Given the description of an element on the screen output the (x, y) to click on. 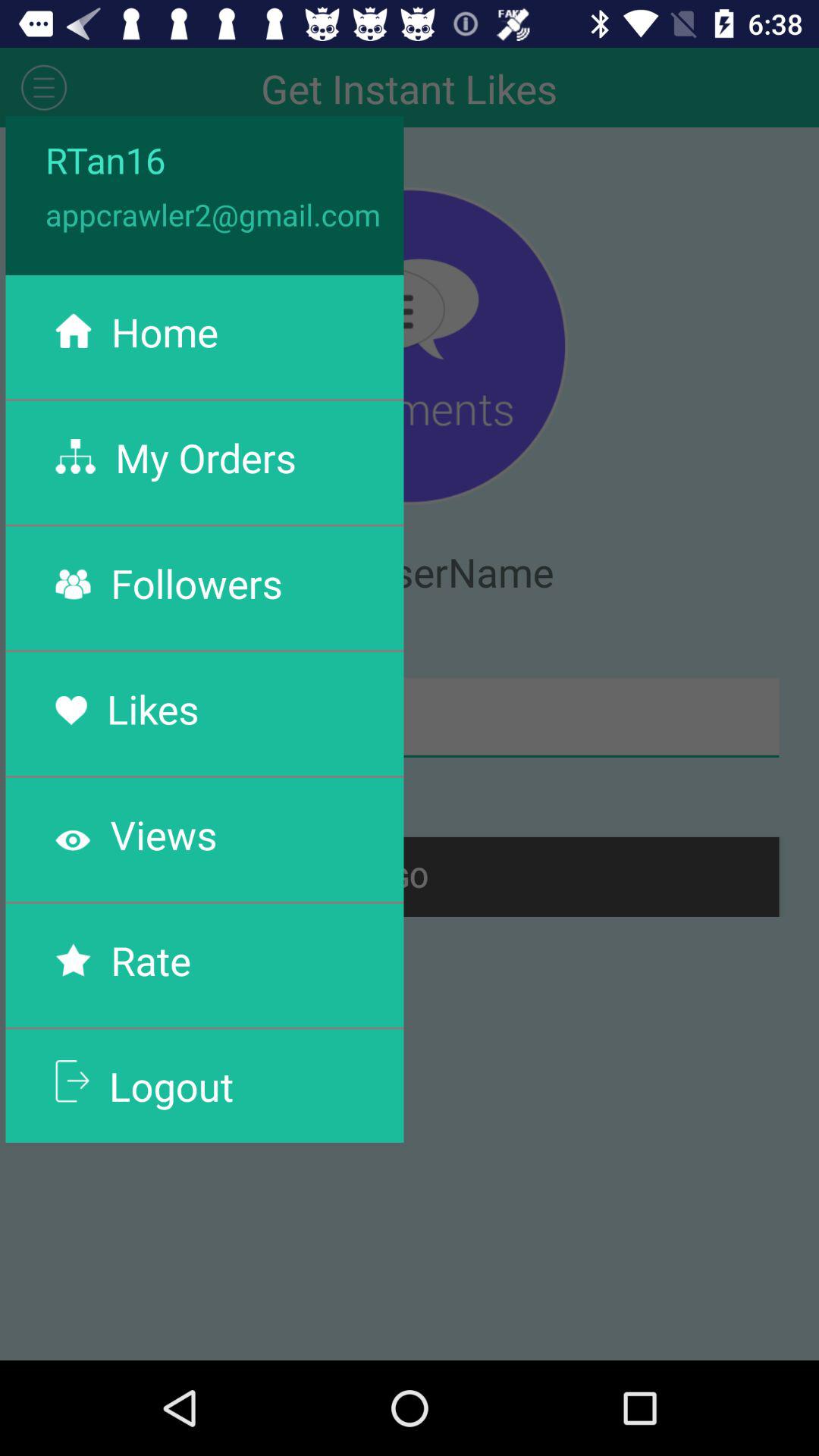
launch the followers (196, 582)
